Given the description of an element on the screen output the (x, y) to click on. 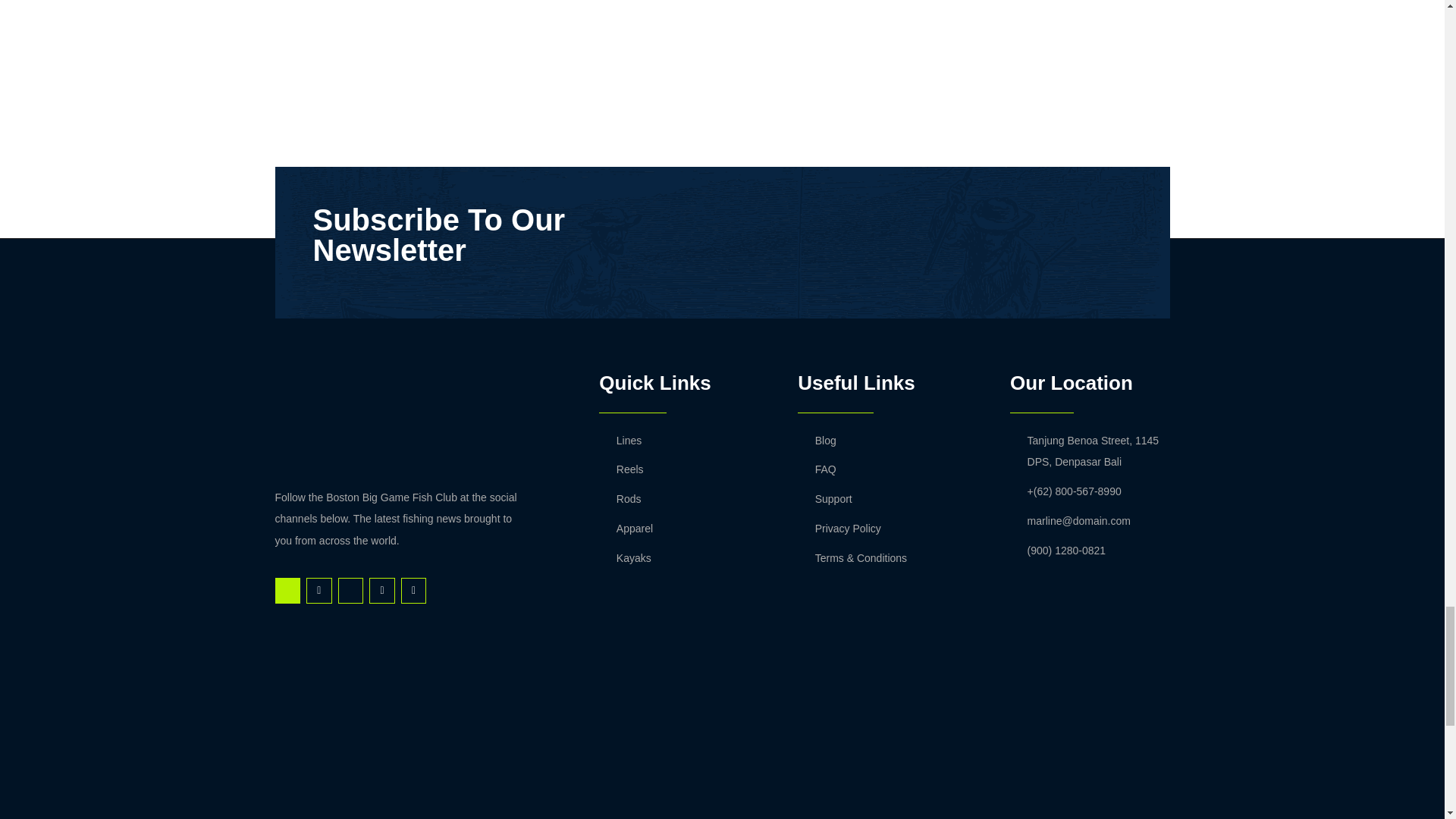
Privacy Policy (892, 528)
Reels (682, 469)
Jki-facebook-light (287, 590)
Apparel (682, 528)
Lines (682, 440)
FAQ (892, 469)
Rods (682, 499)
Blog (892, 440)
Kayaks (682, 558)
Tumblr (381, 590)
Support (892, 499)
Jki-youtube-v-light (350, 590)
Rss (318, 590)
Wordpress (413, 590)
